Given the description of an element on the screen output the (x, y) to click on. 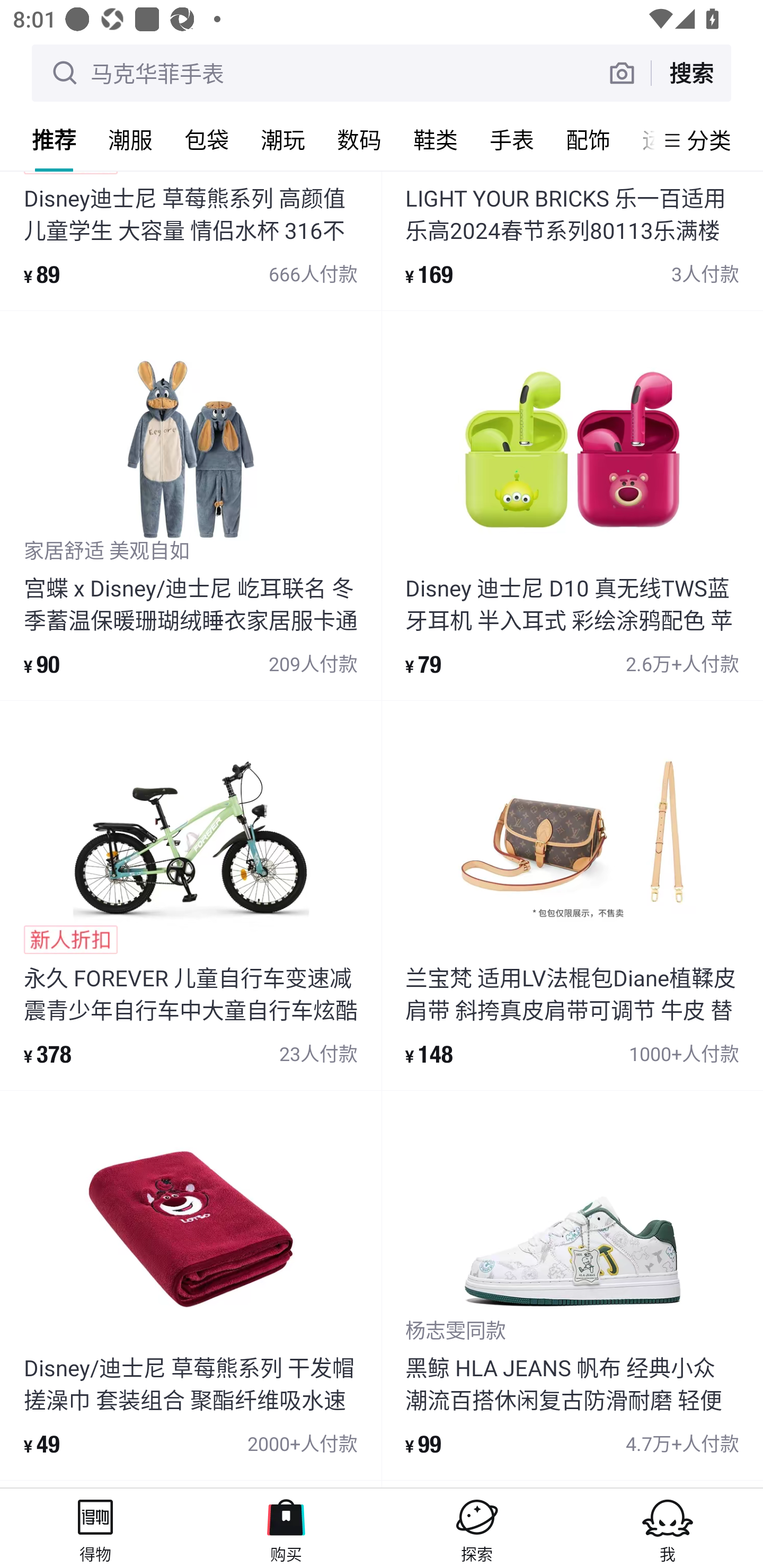
搜索 (690, 72)
推荐 (54, 139)
潮服 (130, 139)
包袋 (206, 139)
潮玩 (282, 139)
数码 (359, 139)
鞋类 (435, 139)
手表 (511, 139)
配饰 (588, 139)
分类 (708, 139)
得物 (95, 1528)
购买 (285, 1528)
探索 (476, 1528)
我 (667, 1528)
